Given the description of an element on the screen output the (x, y) to click on. 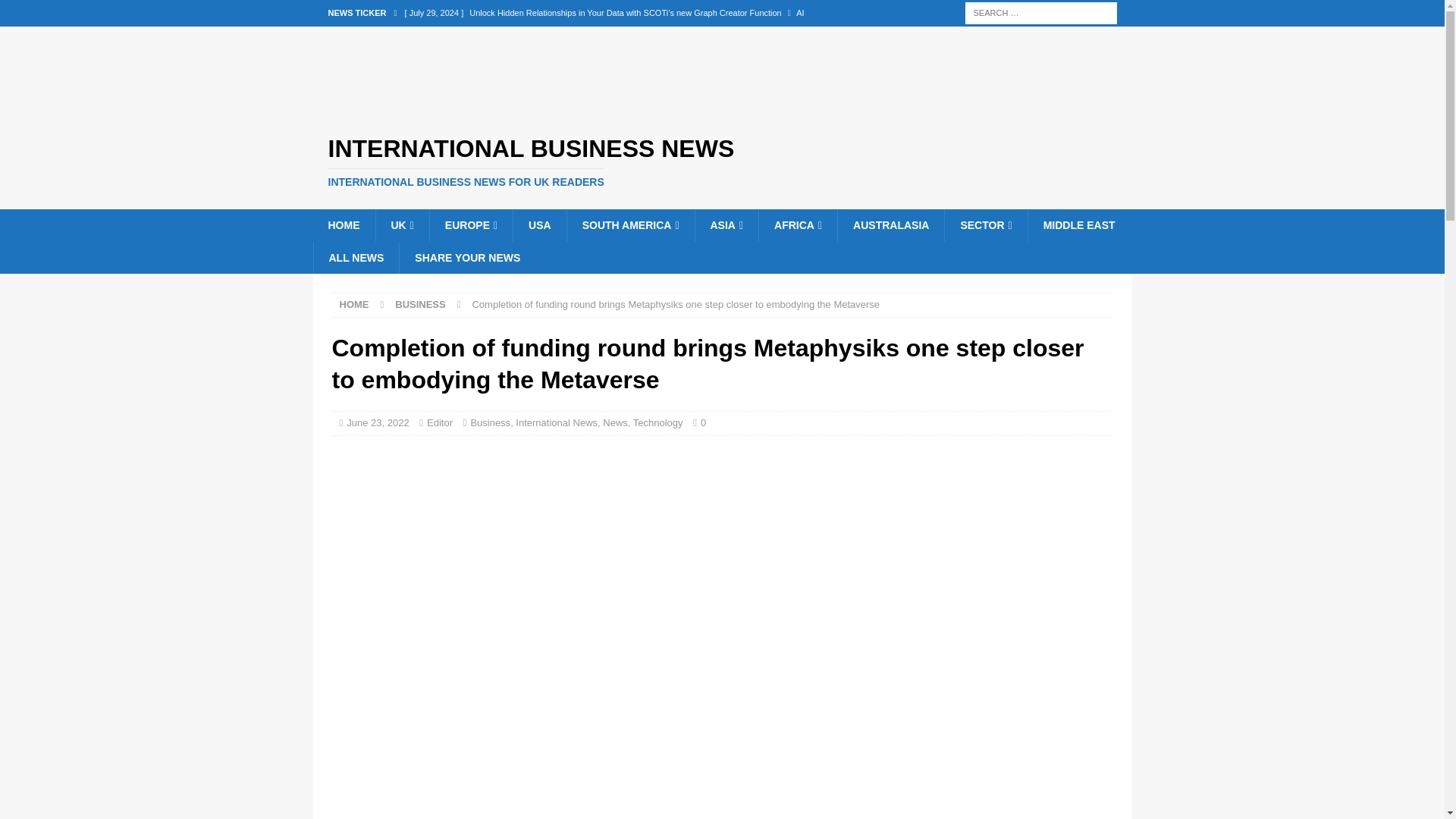
AUSTRALASIA (890, 224)
International Business News (721, 162)
Search (56, 11)
HOME (343, 224)
UK (401, 224)
SECTOR (984, 224)
SOUTH AMERICA (630, 224)
USA (539, 224)
ASIA (726, 224)
AFRICA (797, 224)
EUROPE (470, 224)
